Given the description of an element on the screen output the (x, y) to click on. 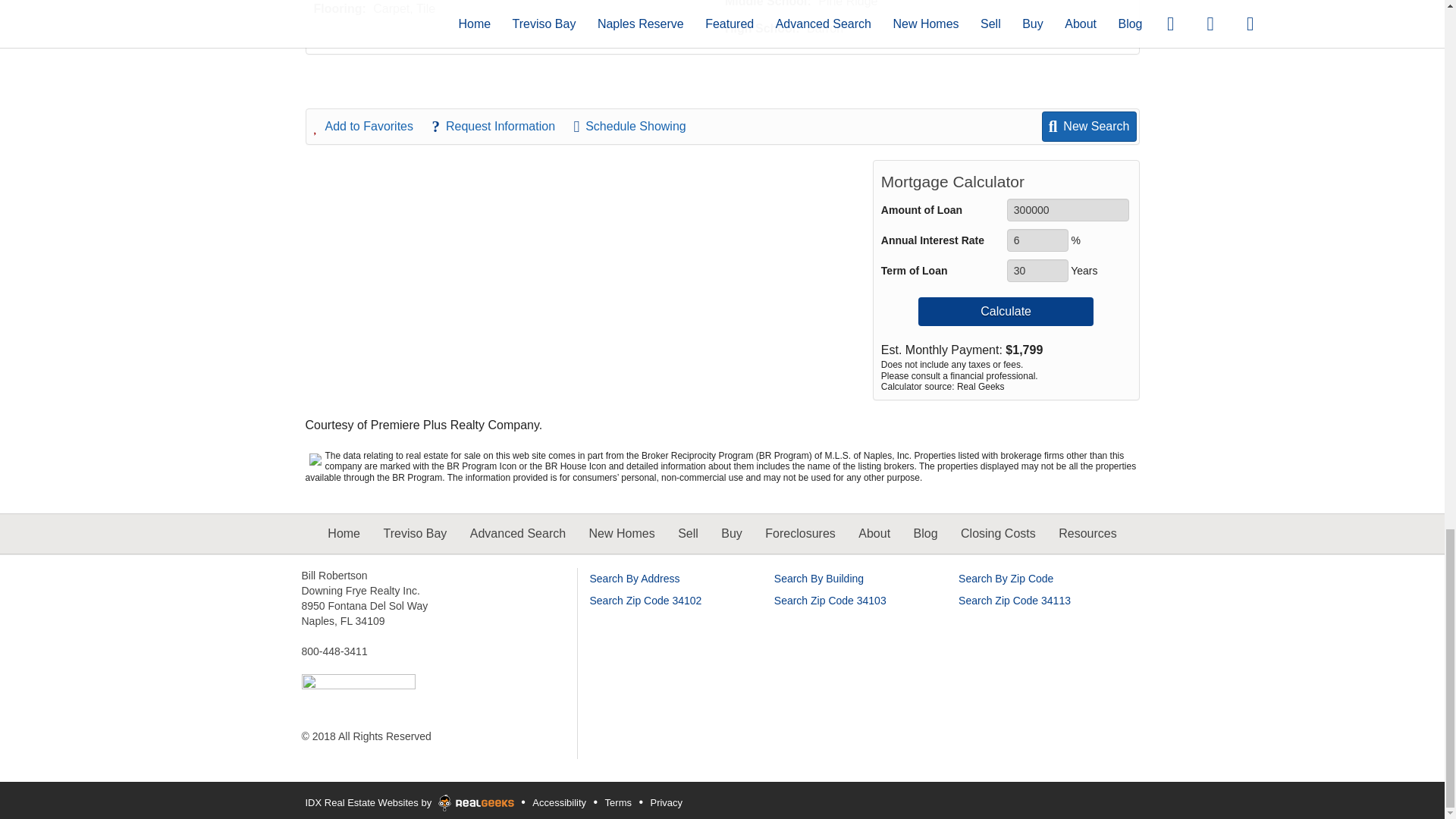
30 (1037, 270)
300000 (1068, 210)
6 (1037, 240)
